Given the description of an element on the screen output the (x, y) to click on. 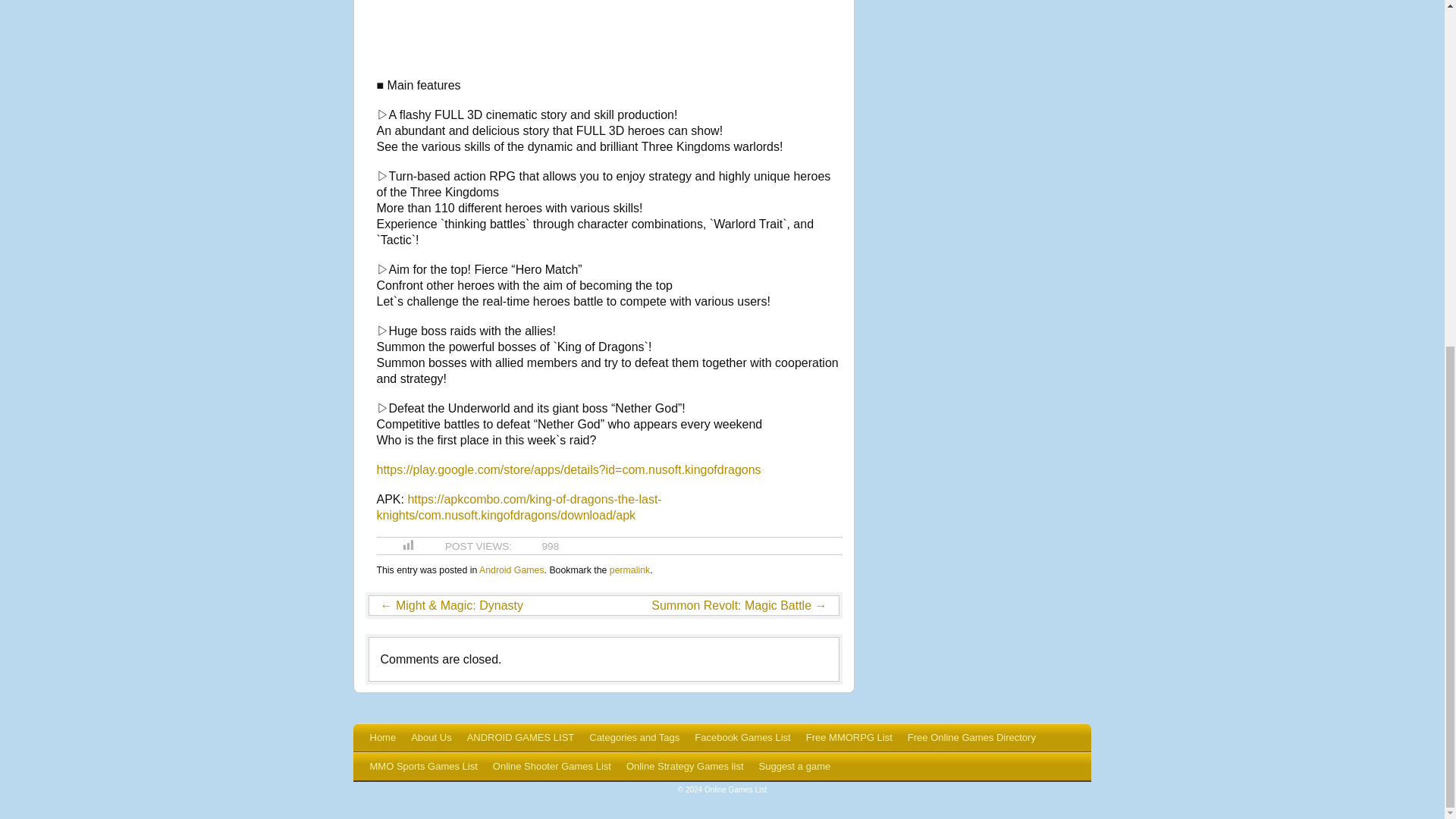
Free Online Games Directory (971, 737)
Permalink to King of Dragons : The Last Knights (629, 570)
About Us (430, 737)
Home (383, 737)
Categories and Tags (633, 737)
Online Shooter Games List (551, 766)
ANDROID GAMES LIST (521, 737)
MMO Sports Games List (423, 766)
Facebook Games List (742, 737)
permalink (629, 570)
Free MMORPG List (848, 737)
Android Games (511, 570)
